Given the description of an element on the screen output the (x, y) to click on. 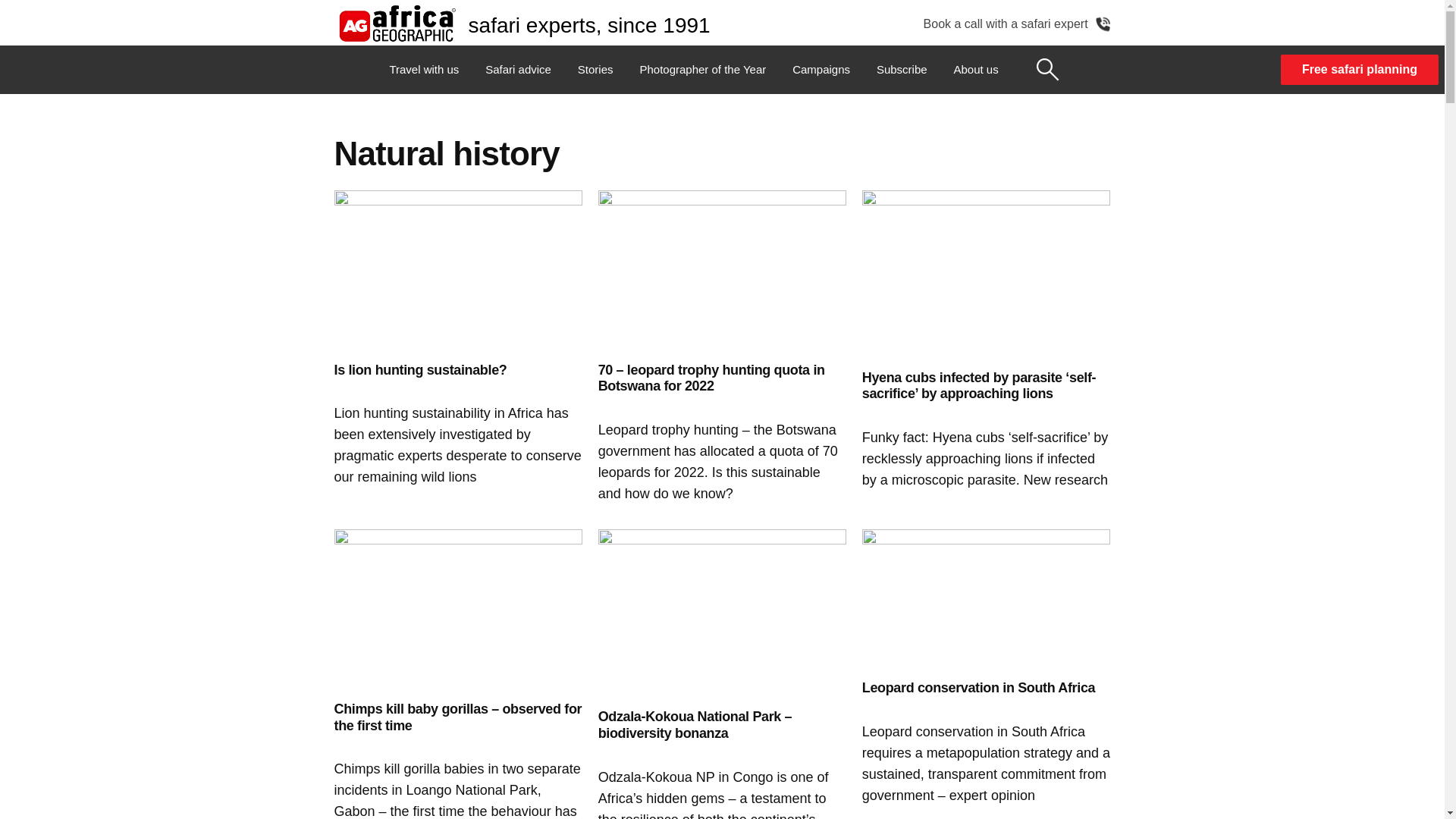
Safari advice (518, 69)
Travel with us (423, 69)
Travel with us (423, 69)
Africa Geographic (396, 22)
Campaigns (820, 69)
Stories (595, 69)
Safari advice (518, 69)
About us (975, 69)
Subscribe (901, 69)
Photographer of the Year (702, 69)
